Given the description of an element on the screen output the (x, y) to click on. 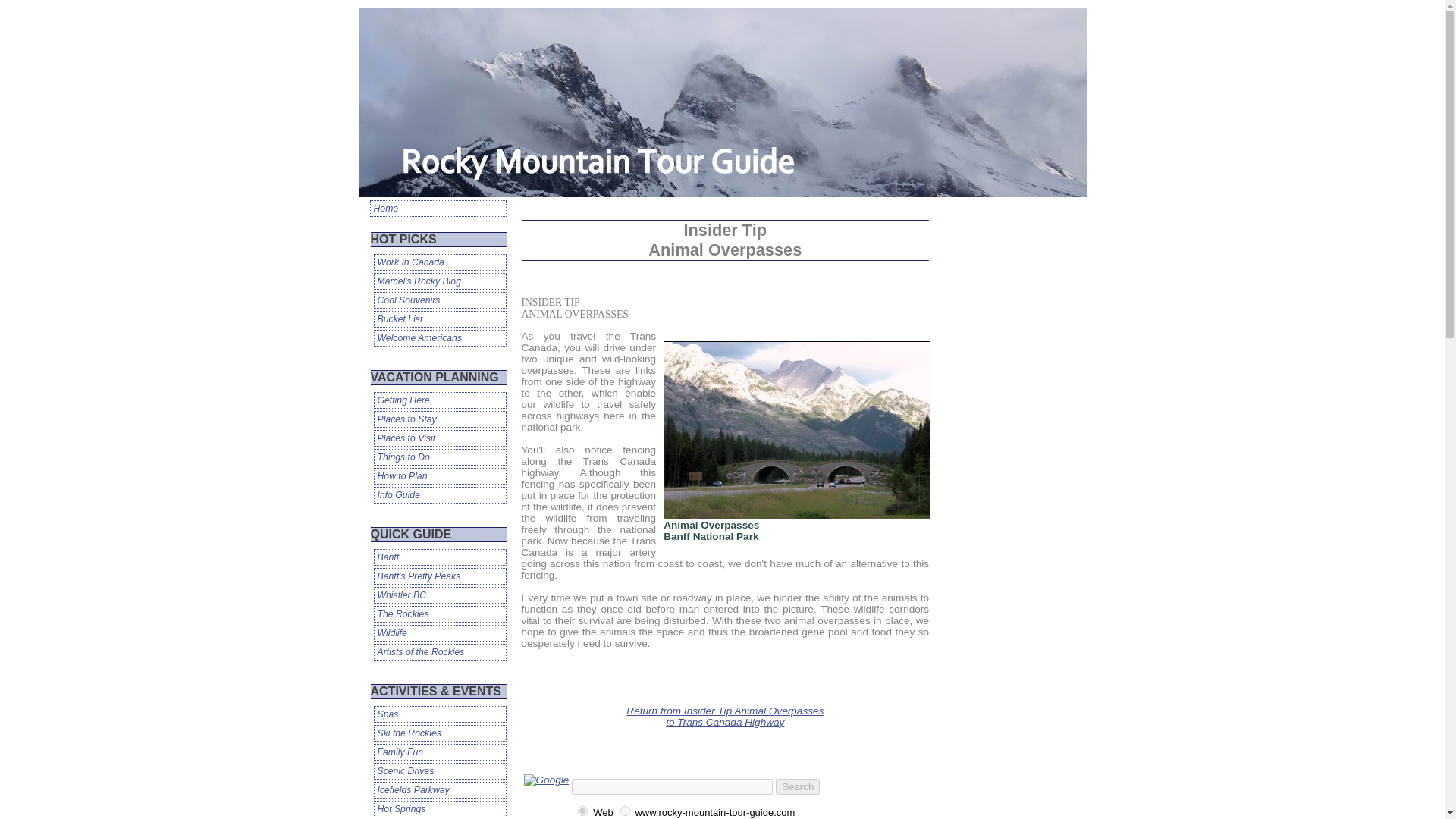
Whistler BC (438, 595)
Marcel's Rocky Blog (438, 280)
Places to Stay (438, 419)
Cool Souvenirs (438, 299)
Animal Overpasses (796, 430)
Things to Do (438, 457)
Spas (438, 713)
Artists of the Rockies (438, 651)
Home (437, 208)
Welcome Americans (438, 338)
